Given the description of an element on the screen output the (x, y) to click on. 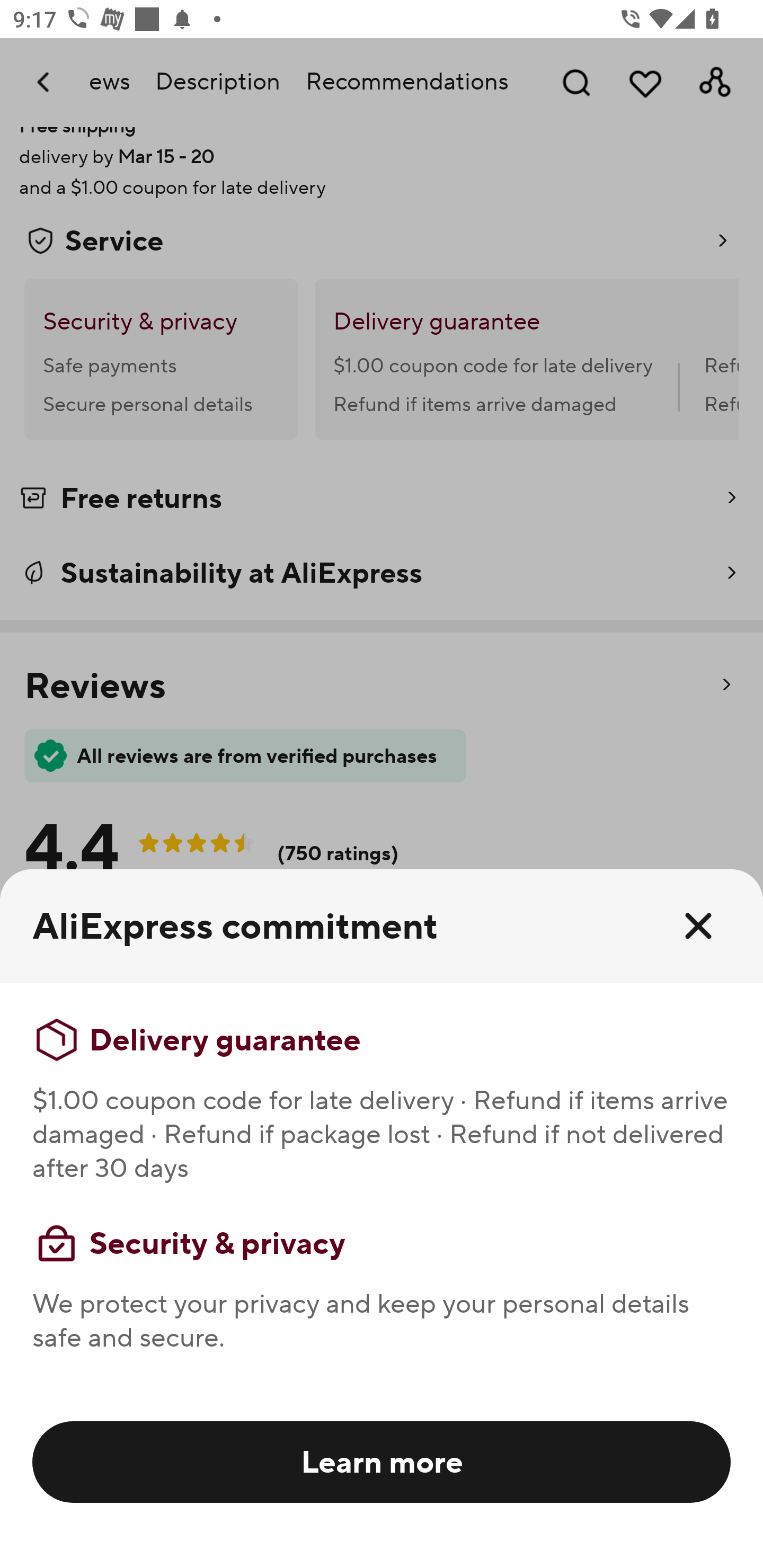
Learn more (381, 1461)
